Given the description of an element on the screen output the (x, y) to click on. 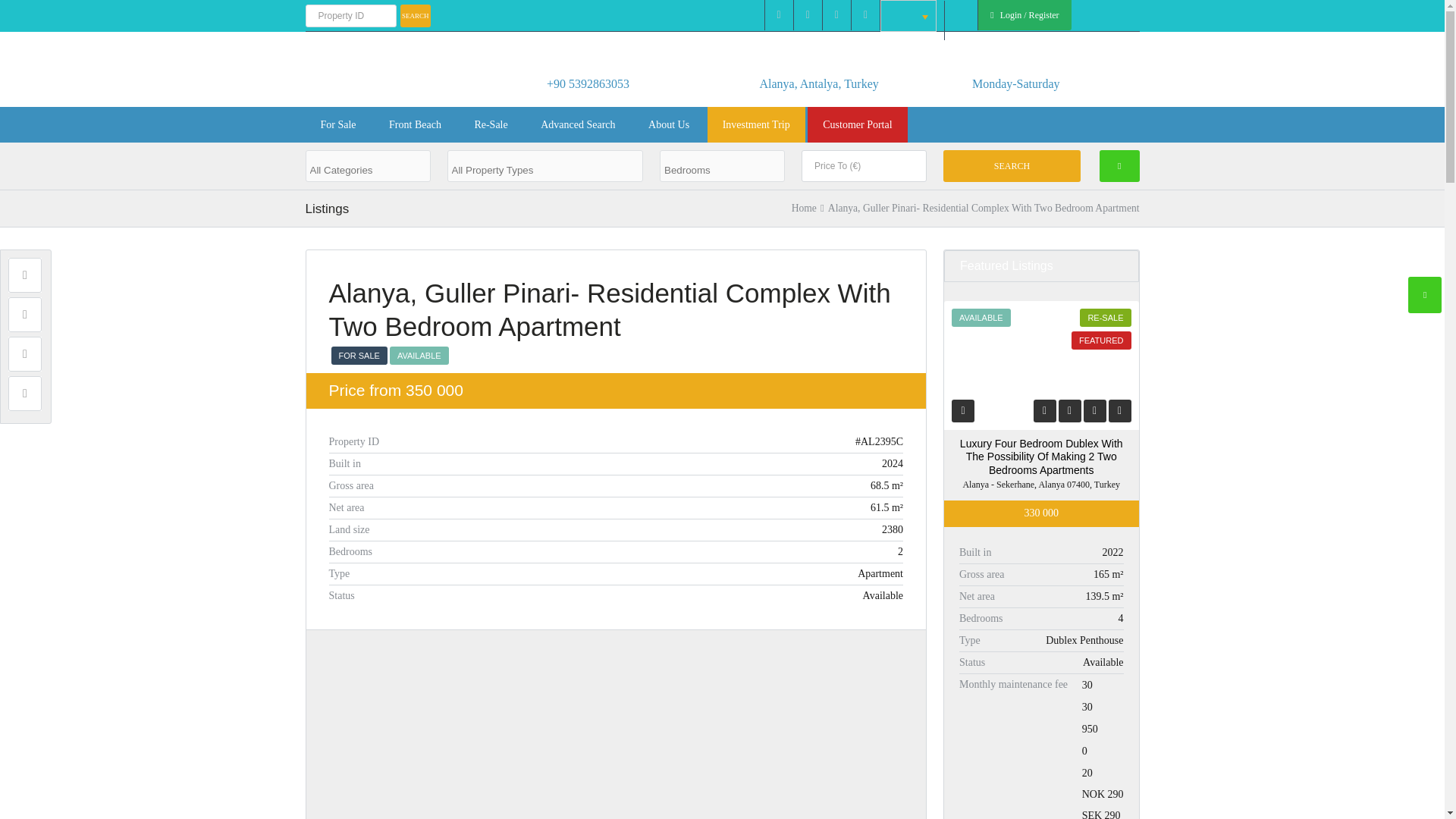
Front Beach (415, 124)
Search (415, 15)
Search (1011, 165)
Re-Sale (490, 124)
About Us (668, 124)
For Sale (337, 124)
Customer Portal (857, 124)
Search (415, 15)
Investment Trip (756, 124)
Search (1011, 165)
